Given the description of an element on the screen output the (x, y) to click on. 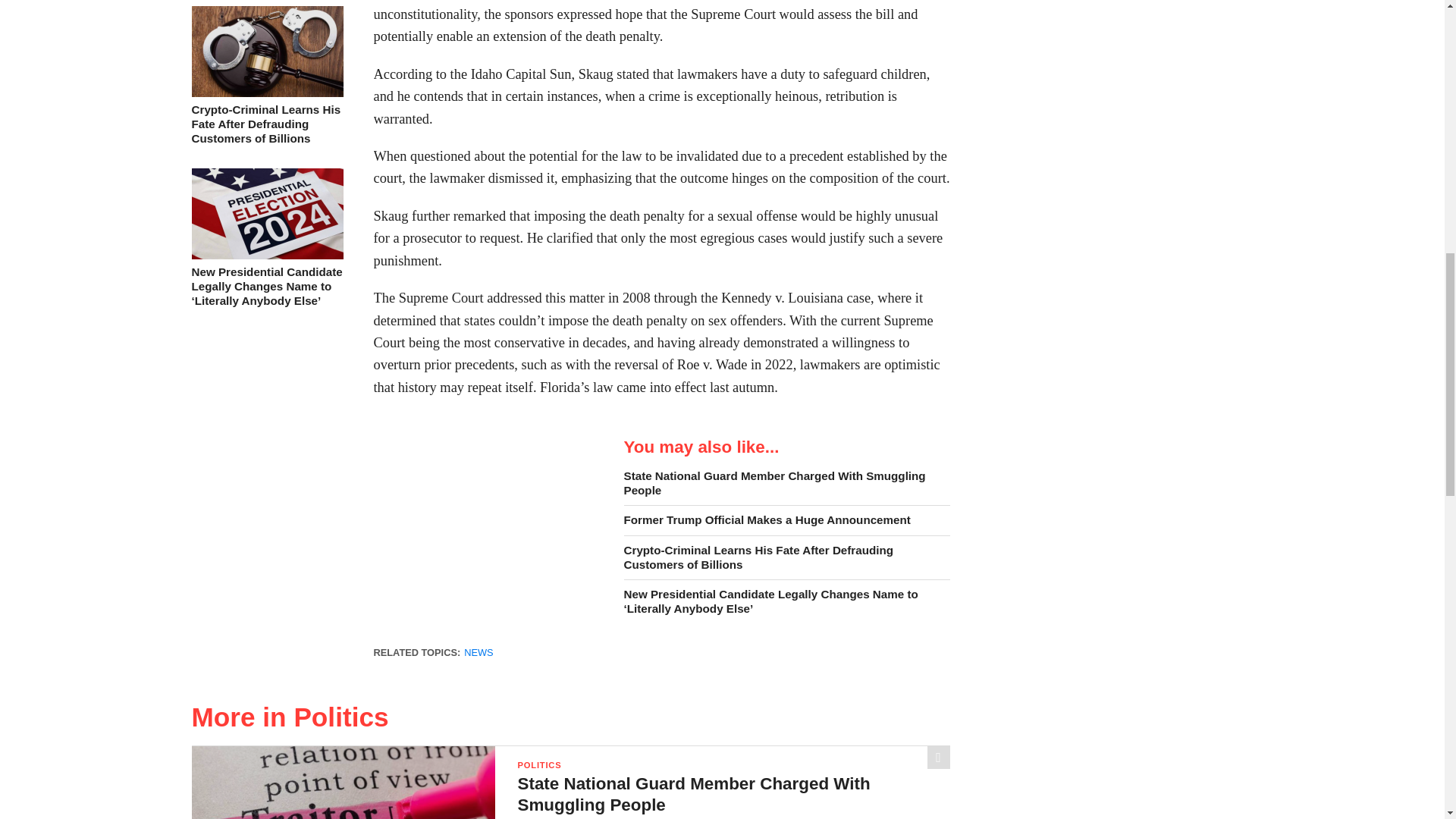
State National Guard Member Charged With Smuggling People (786, 483)
Former Trump Official Makes a Huge Announcement (786, 520)
NEWS (478, 652)
